Given the description of an element on the screen output the (x, y) to click on. 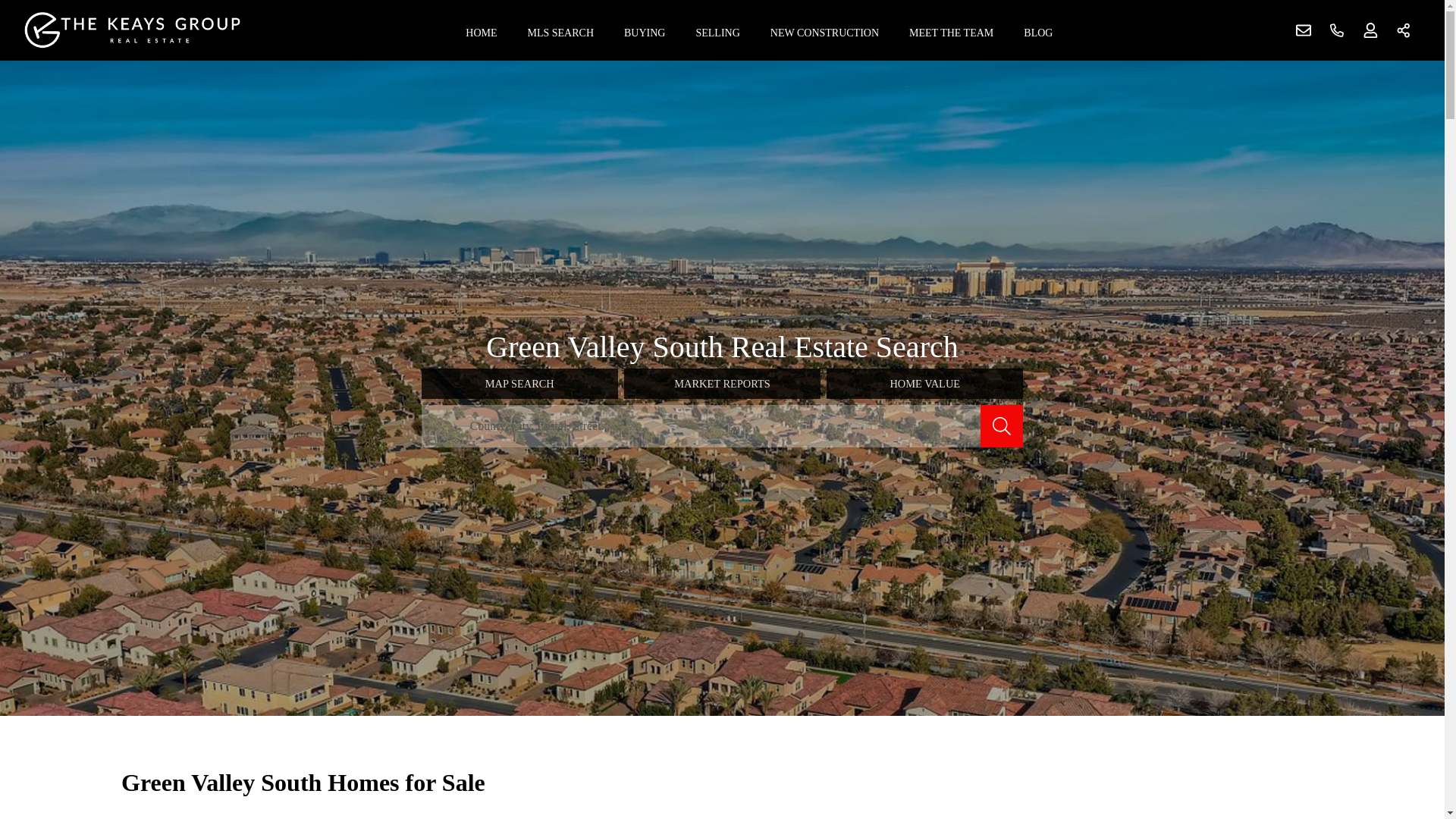
BUYING (644, 30)
NEW CONSTRUCTION (824, 30)
MLS SEARCH (561, 30)
Share (1404, 29)
SELLING (716, 30)
MEET THE TEAM (951, 30)
Phone number (1337, 29)
Contact us (1303, 29)
valuation widget (1144, 791)
Sign up or Sign in (1370, 29)
